Given the description of an element on the screen output the (x, y) to click on. 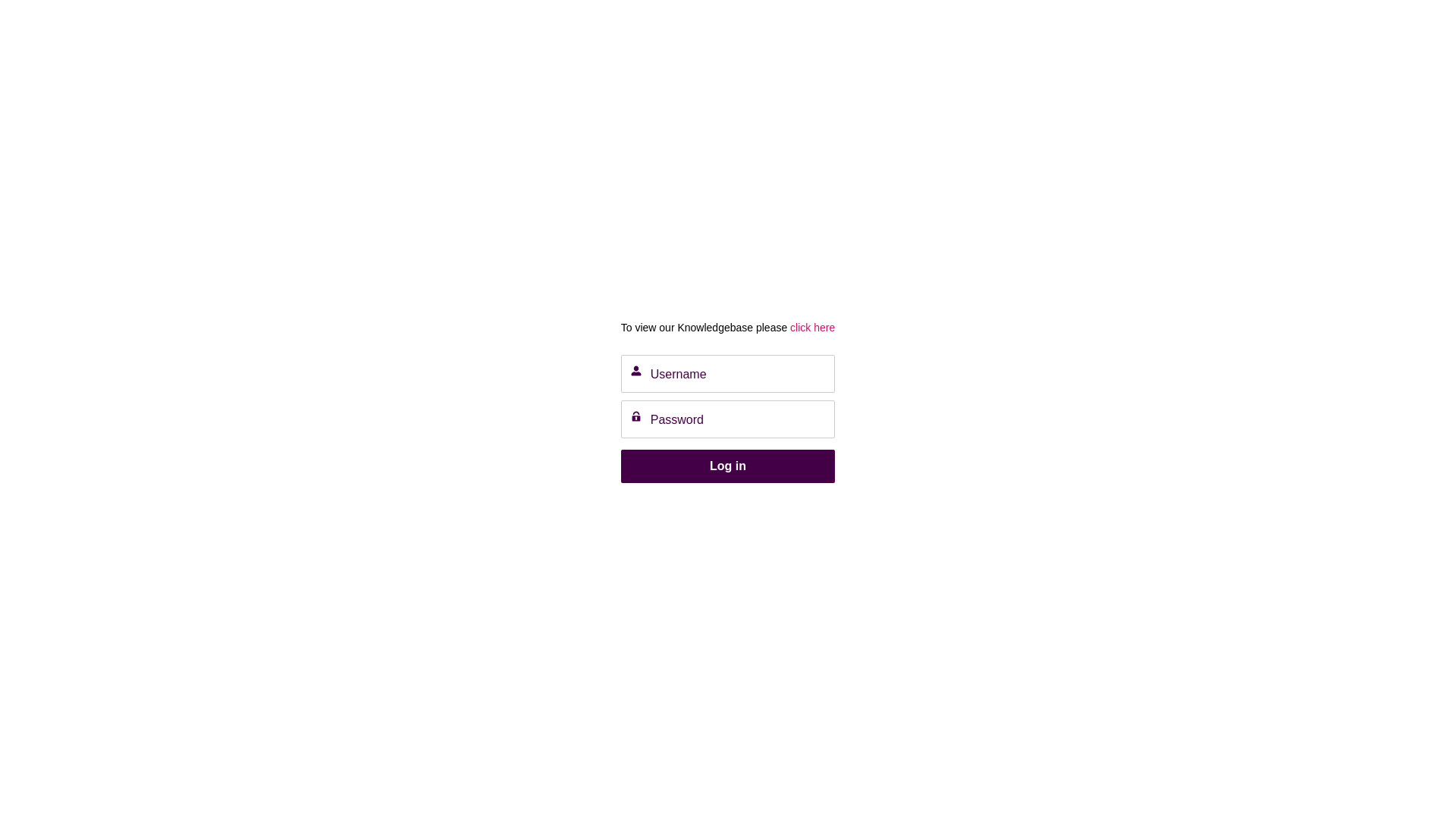
Forgot your password? Element type: text (675, 501)
click here Element type: text (810, 327)
Log in Element type: text (728, 466)
